Given the description of an element on the screen output the (x, y) to click on. 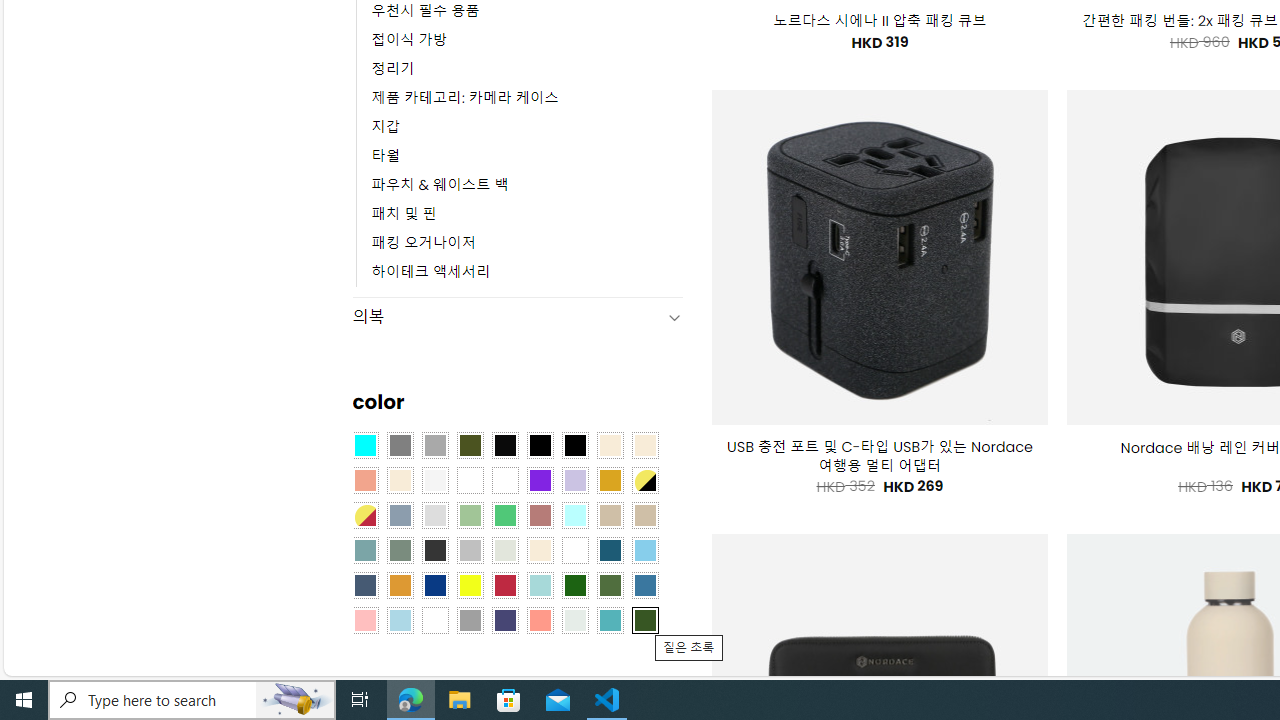
Kelp (504, 480)
